Given the description of an element on the screen output the (x, y) to click on. 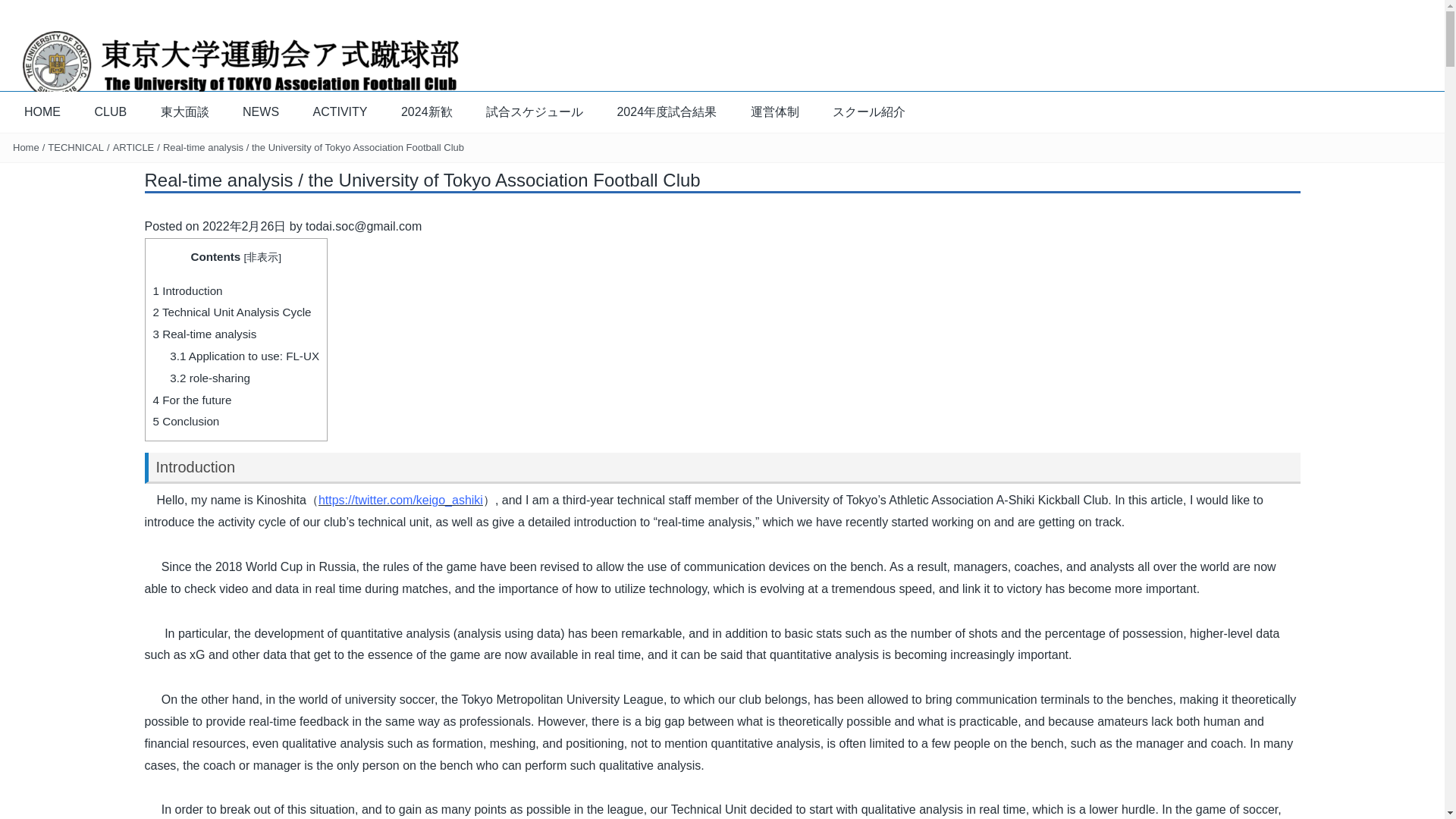
ACTIVITY (339, 111)
2 Technical Unit Analysis Cycle (231, 311)
4 For the future (191, 399)
3.1 Application to use: FL-UX (244, 355)
CLUB (109, 111)
ARTICLE (133, 147)
Home (26, 147)
HOME (41, 111)
3 Real-time analysis (204, 333)
1 Introduction (187, 290)
